Given the description of an element on the screen output the (x, y) to click on. 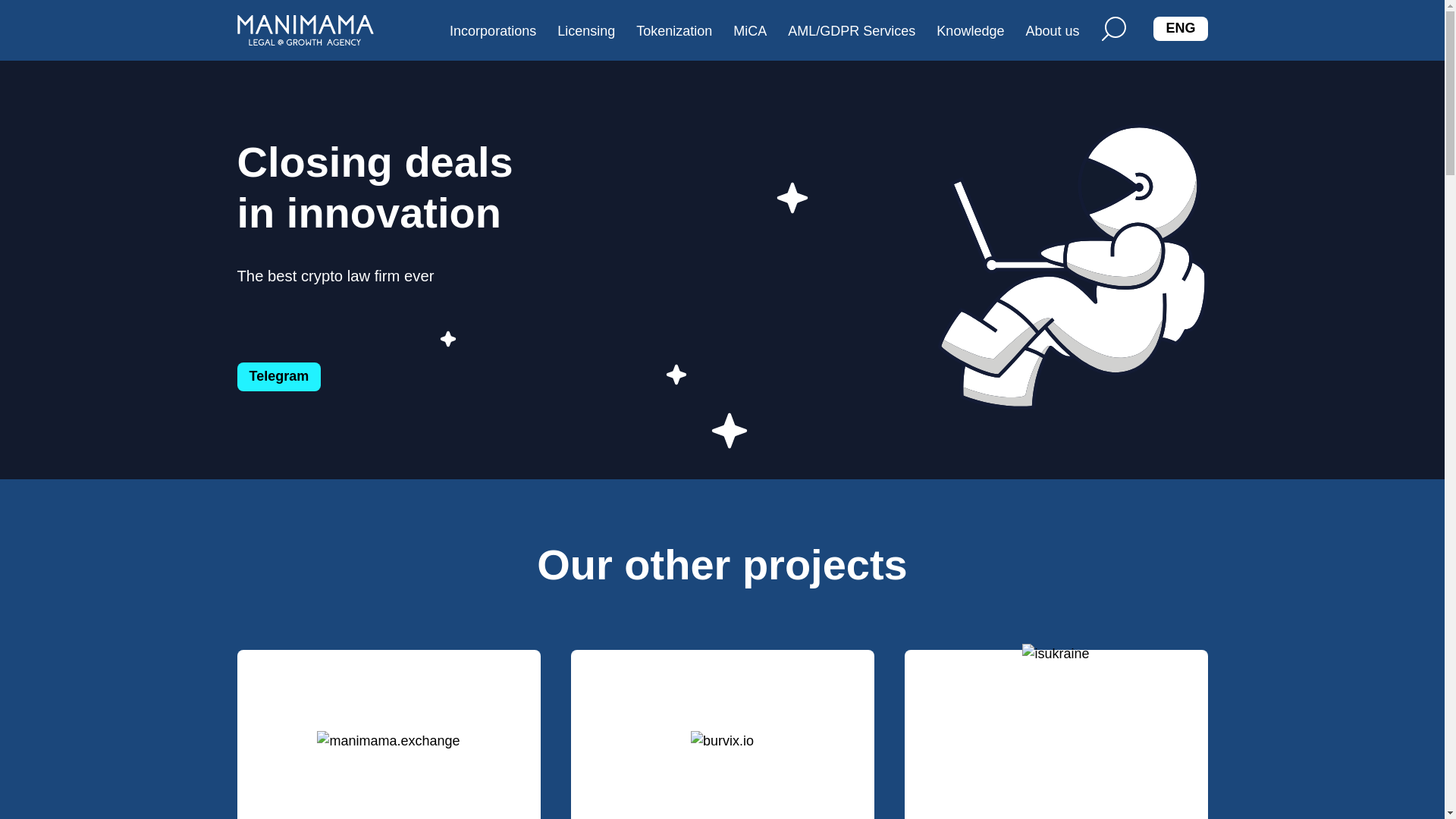
Submit (804, 60)
Telegram (277, 376)
Tokenization (673, 31)
Incorporations (492, 31)
Knowledge (970, 31)
Licensing (585, 31)
MiCA (749, 31)
Telegram (277, 376)
About us (1051, 31)
ENGLISH (1180, 28)
